Given the description of an element on the screen output the (x, y) to click on. 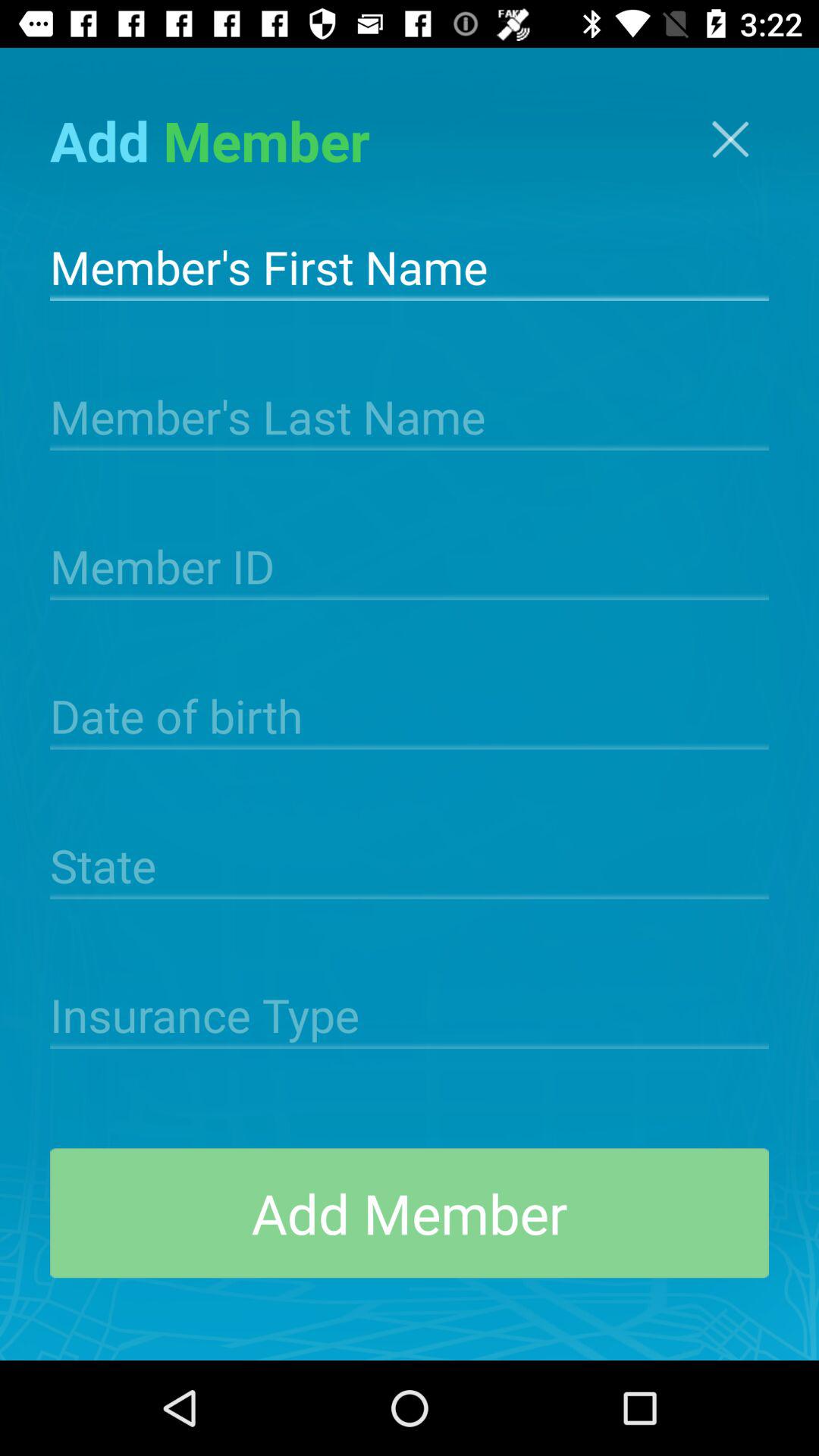
enter the name box (409, 265)
